Given the description of an element on the screen output the (x, y) to click on. 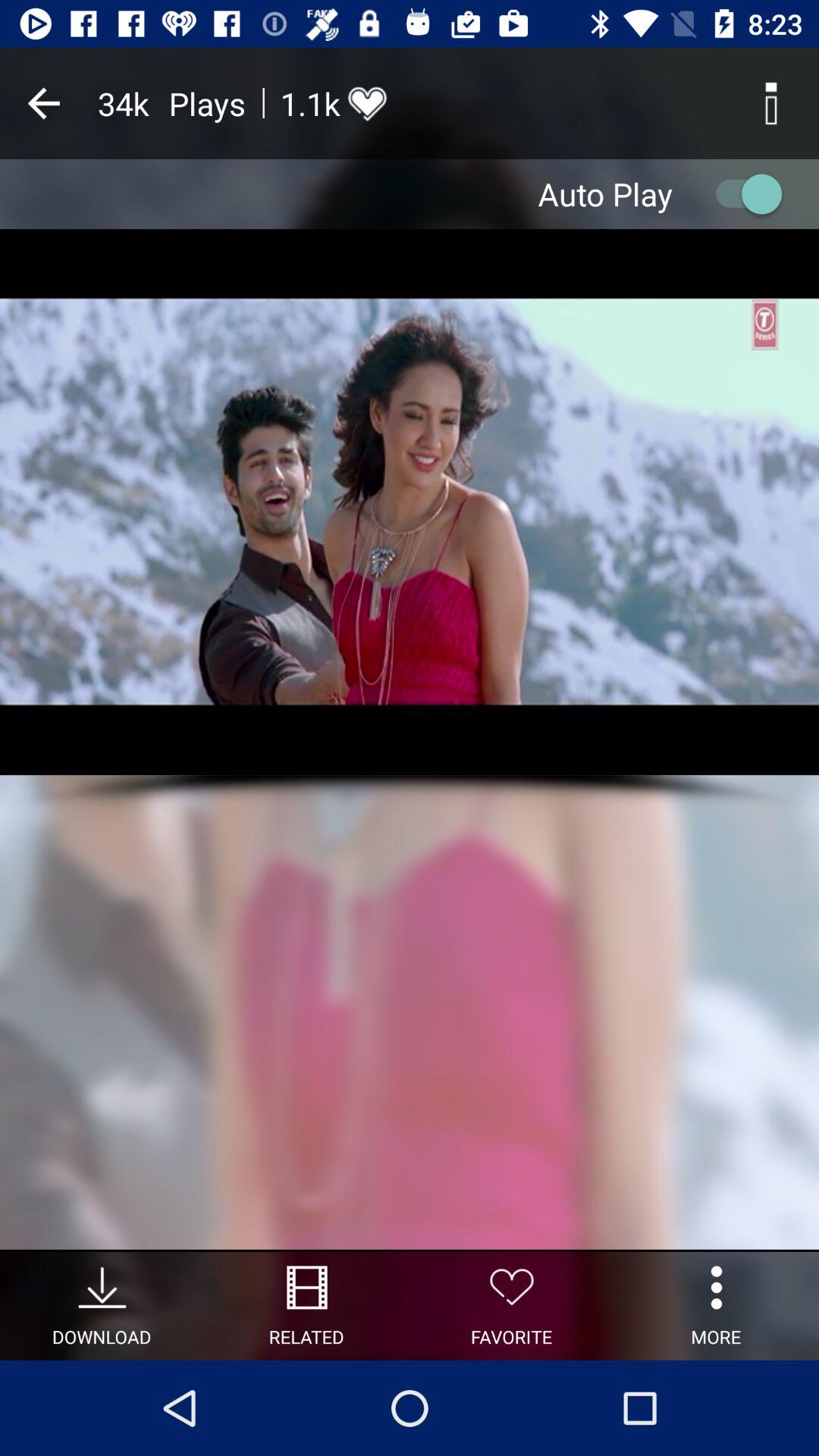
switch autoplay option (741, 193)
